Given the description of an element on the screen output the (x, y) to click on. 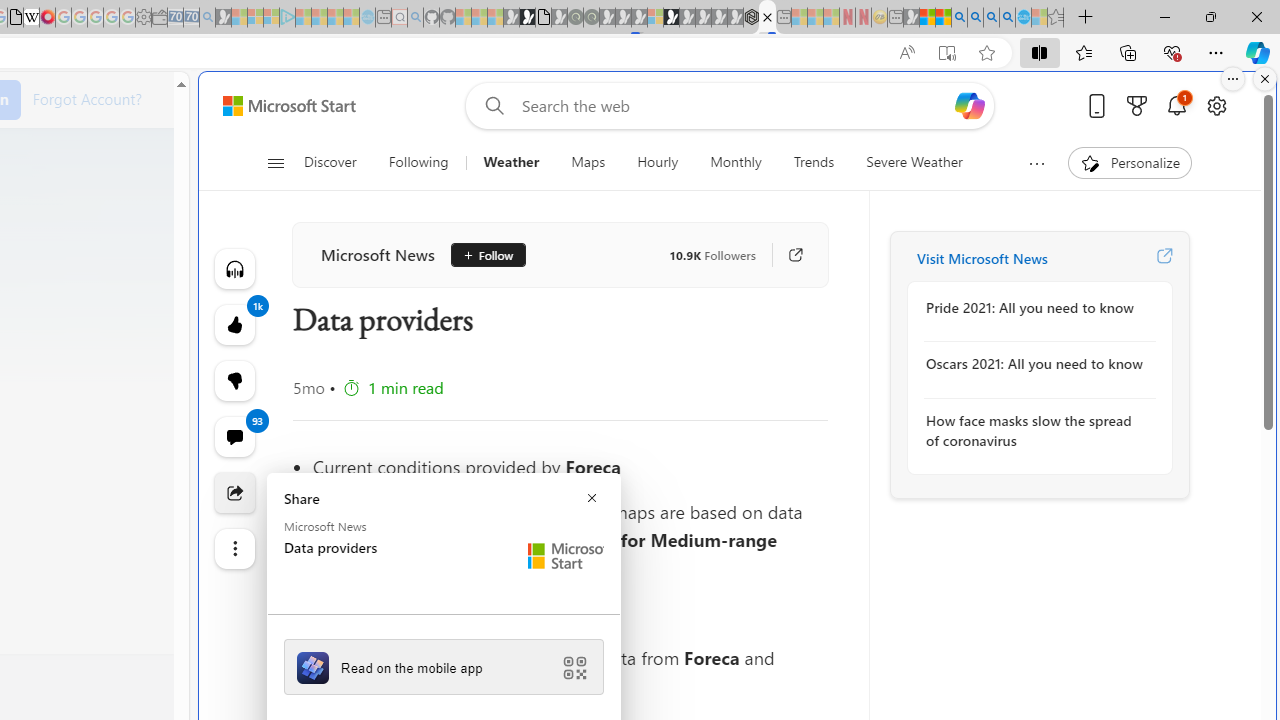
Class: at-item (234, 548)
2009 Bing officially replaced Live Search on June 3 - Search (975, 17)
Monthly (735, 162)
